Given the description of an element on the screen output the (x, y) to click on. 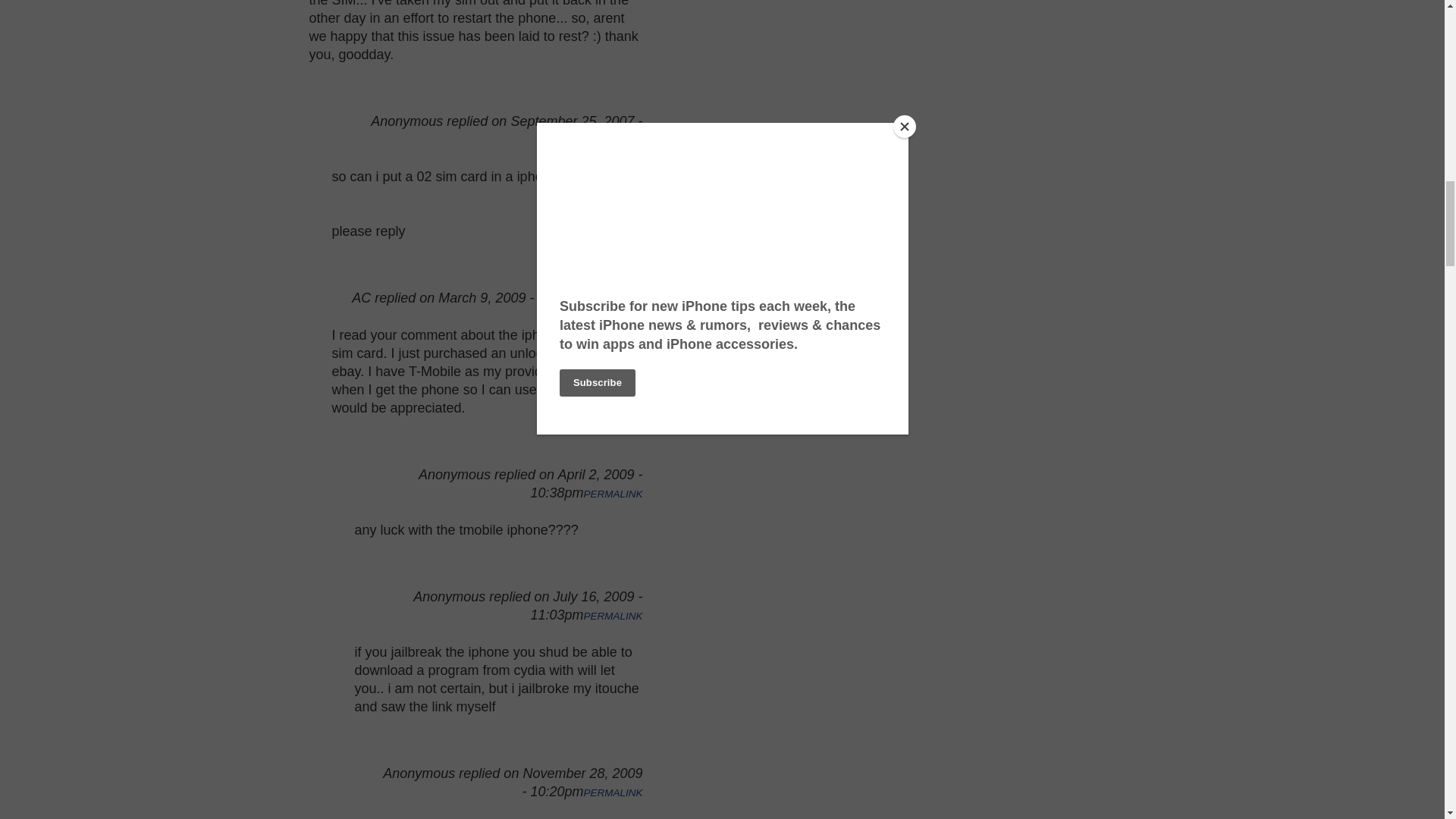
PERMALINK (612, 792)
PERMALINK (612, 298)
PERMALINK (612, 493)
PERMALINK (612, 615)
PERMALINK (612, 140)
